Given the description of an element on the screen output the (x, y) to click on. 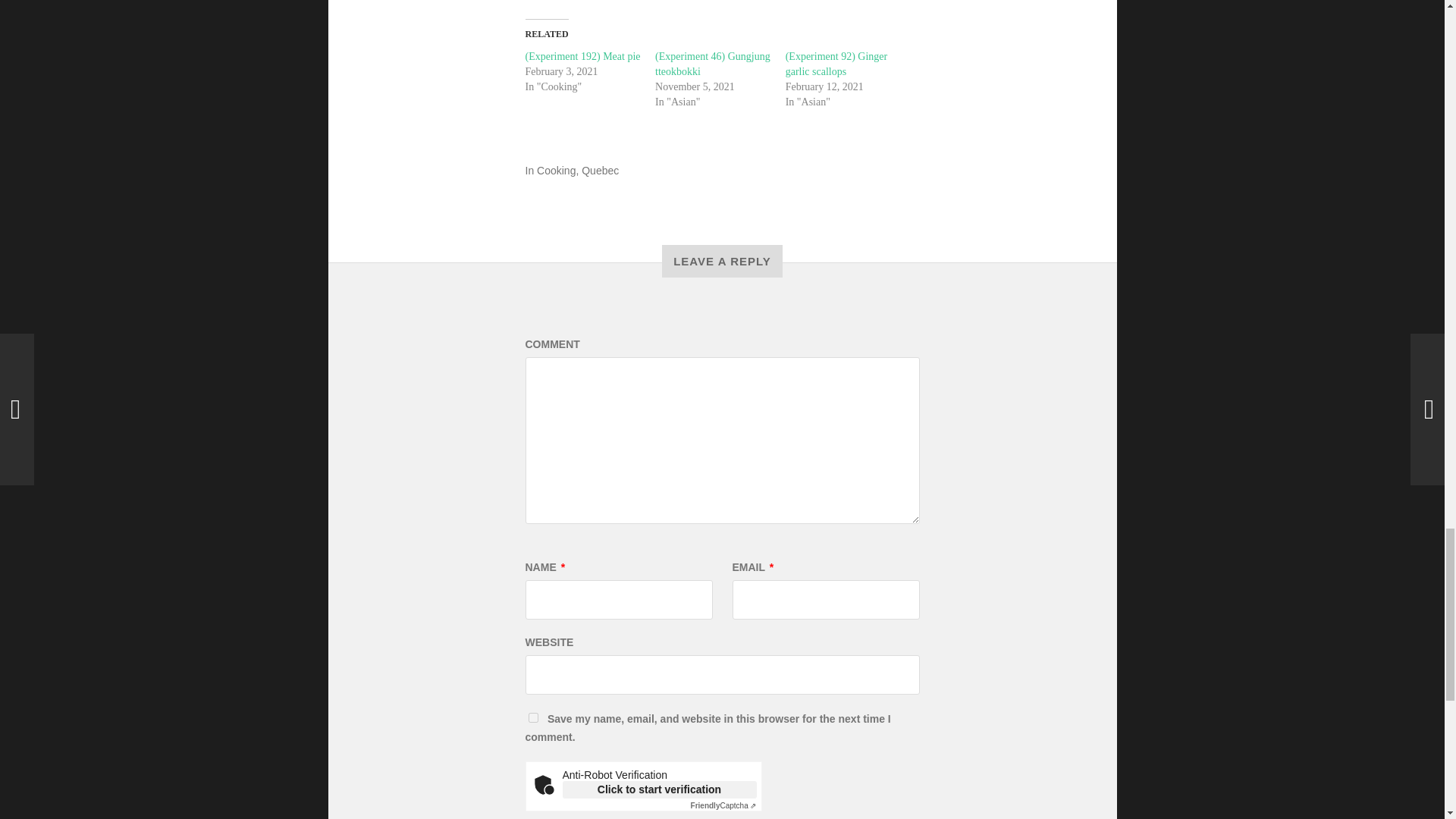
yes (532, 717)
